Given the description of an element on the screen output the (x, y) to click on. 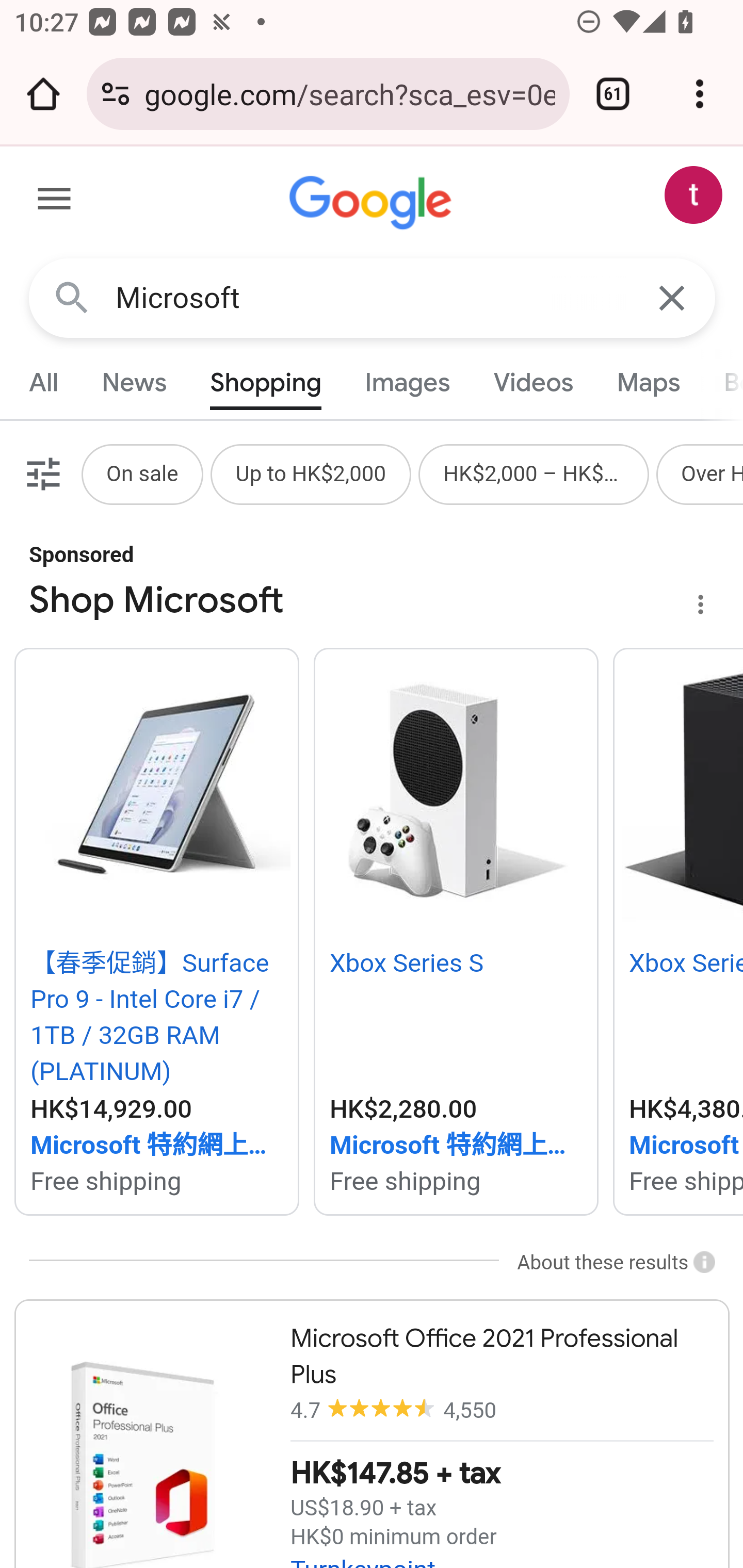
Open the home page (43, 93)
Connection is secure (115, 93)
Switch or close tabs (612, 93)
Customize and control Google Chrome (699, 93)
Main menu (54, 202)
Google (372, 203)
Google Search (71, 296)
Clear Search (672, 296)
Microsoft (372, 297)
All (43, 382)
News (134, 382)
Images (408, 382)
Videos (533, 382)
Maps (647, 382)
Filters.0 filters applied. (41, 473)
On sale (141, 473)
Up to HK$2,000 (310, 473)
HK$2,000 – HK$7,000 (533, 473)
Over HK$7,000 (711, 473)
From Microsoft 特約網上商店 Microsoft 特約網上商店 (155, 1145)
From Microsoft 特約網上商店 Microsoft 特約網上商店 (455, 1145)
Microsoft Office 2021 Professional Plus (371, 1433)
